Given the description of an element on the screen output the (x, y) to click on. 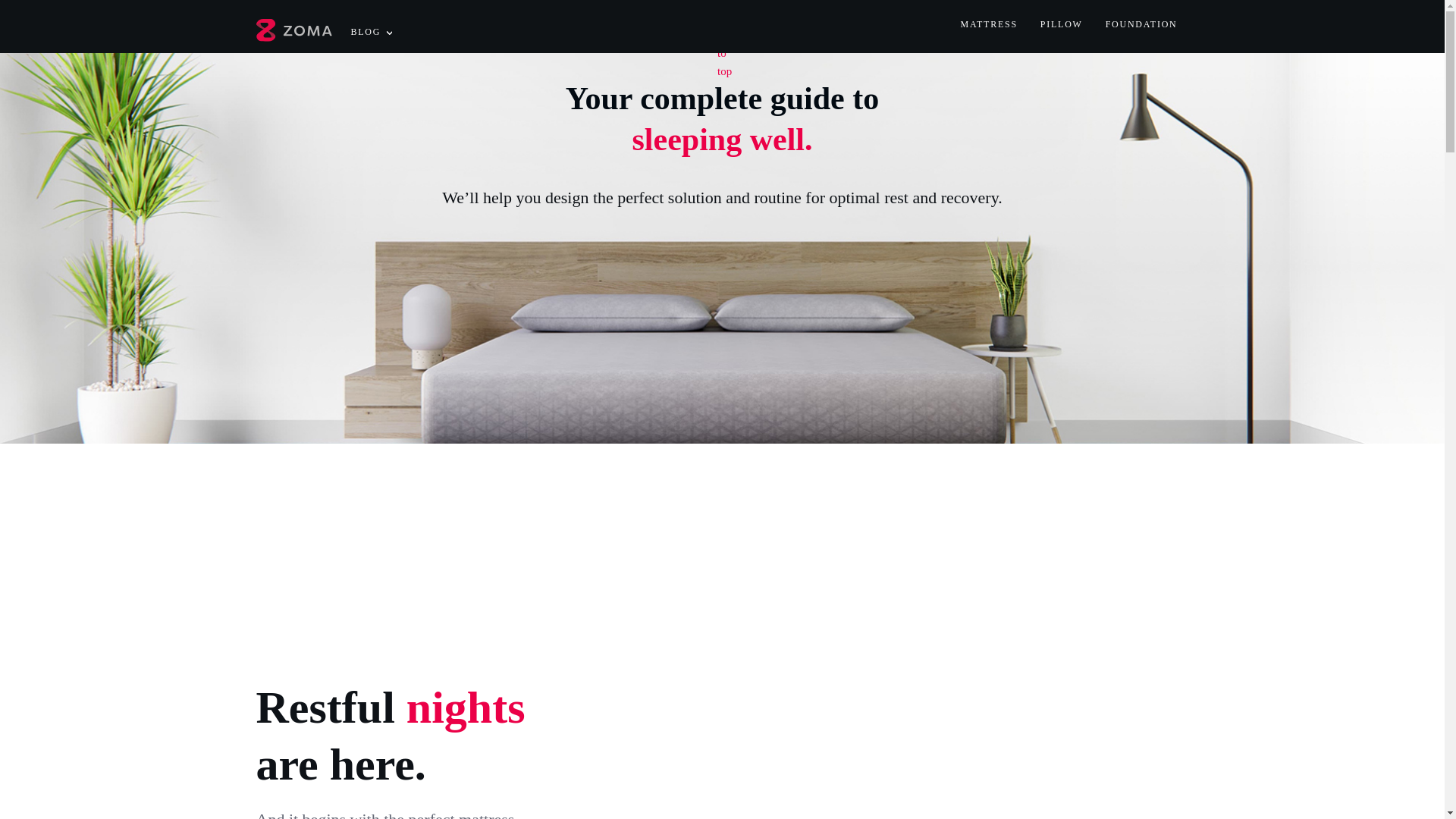
MATTRESS (987, 31)
Zoma (269, 69)
PILLOW (1062, 31)
BLOG (370, 39)
FOUNDATION (1141, 31)
